Given the description of an element on the screen output the (x, y) to click on. 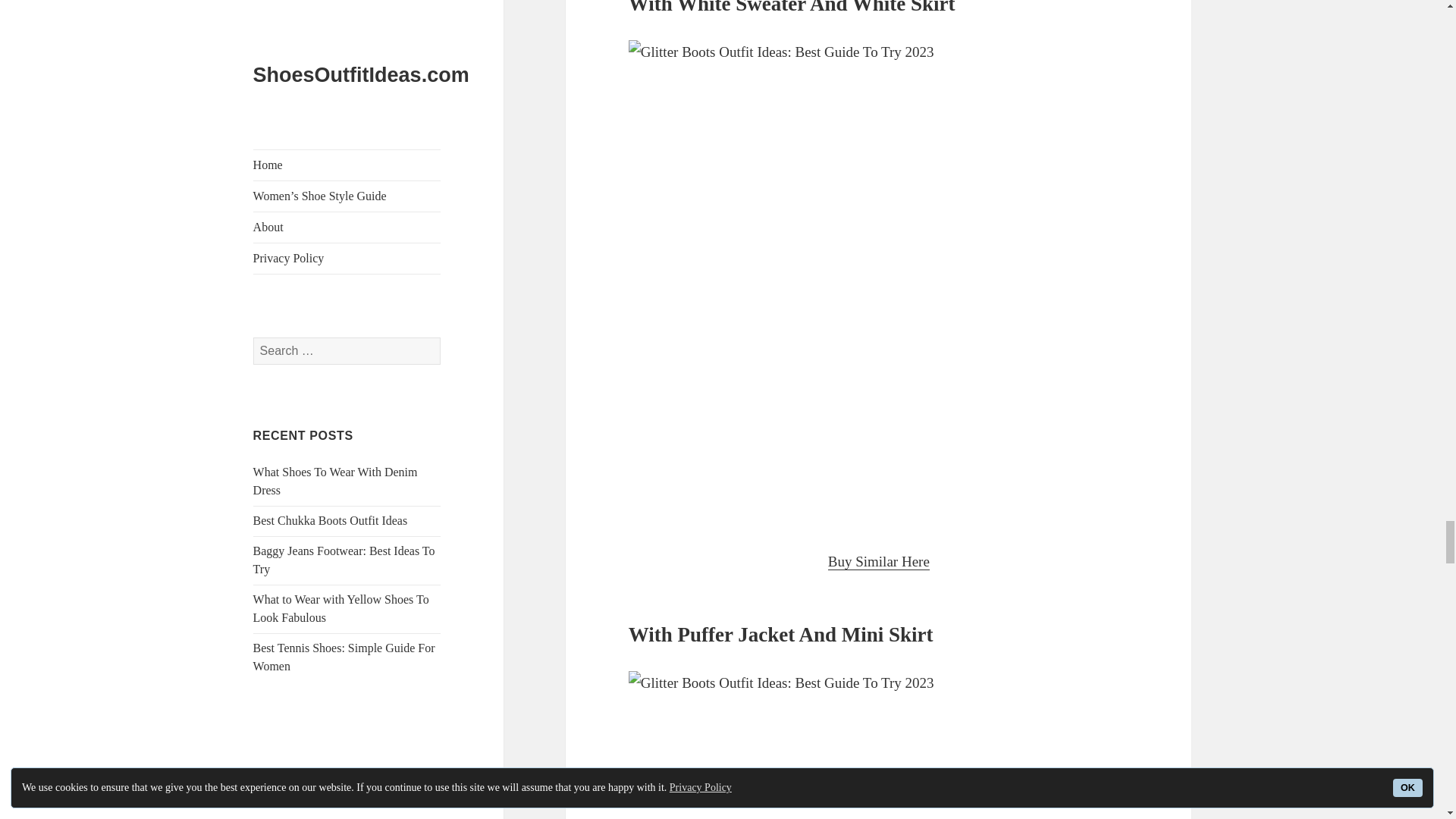
Glitter Boots Outfit Ideas: Best Guide To Try 2023 (878, 744)
Buy Similar Here (879, 561)
